Given the description of an element on the screen output the (x, y) to click on. 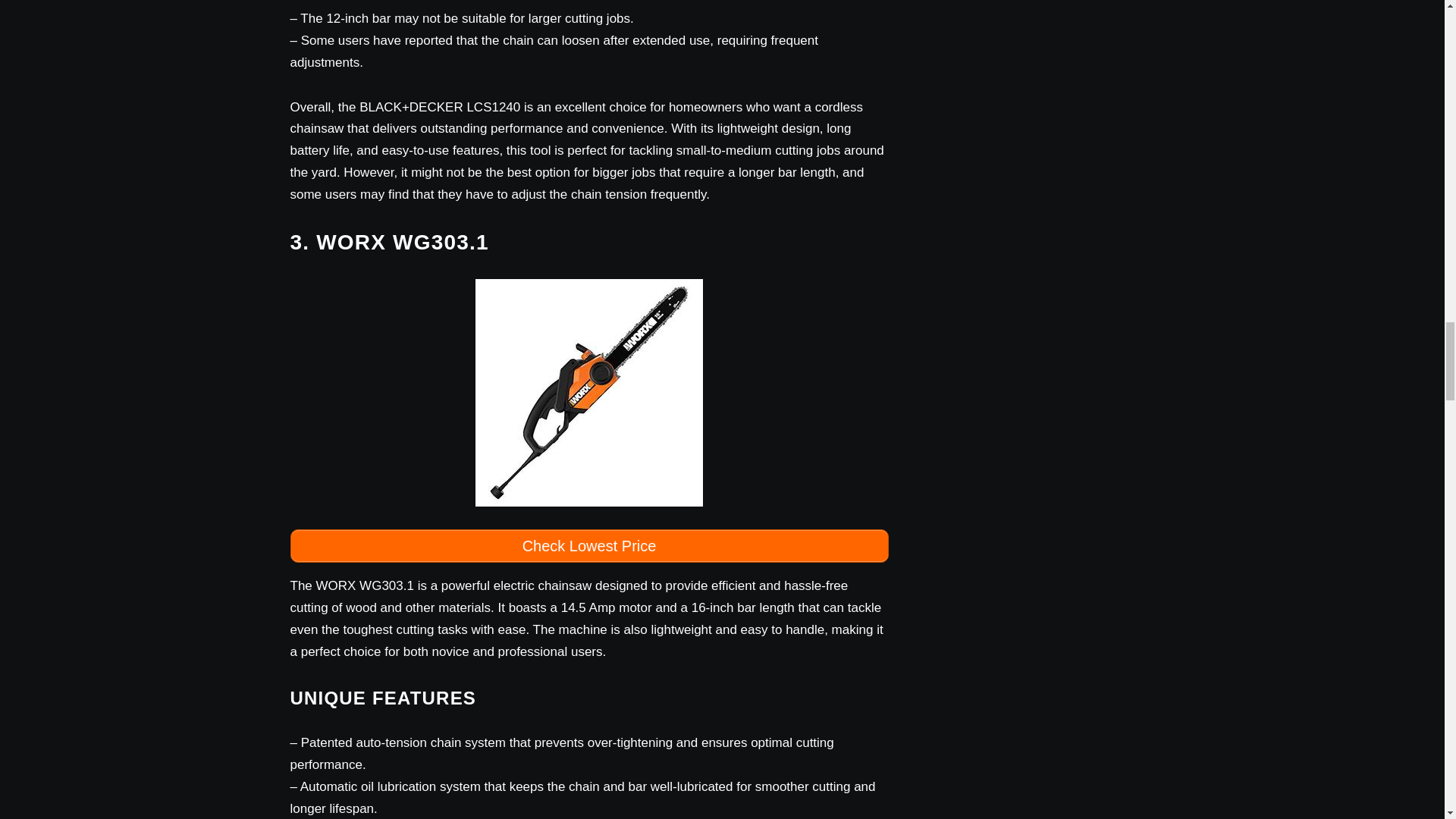
Check Lowest Price (588, 545)
